Given the description of an element on the screen output the (x, y) to click on. 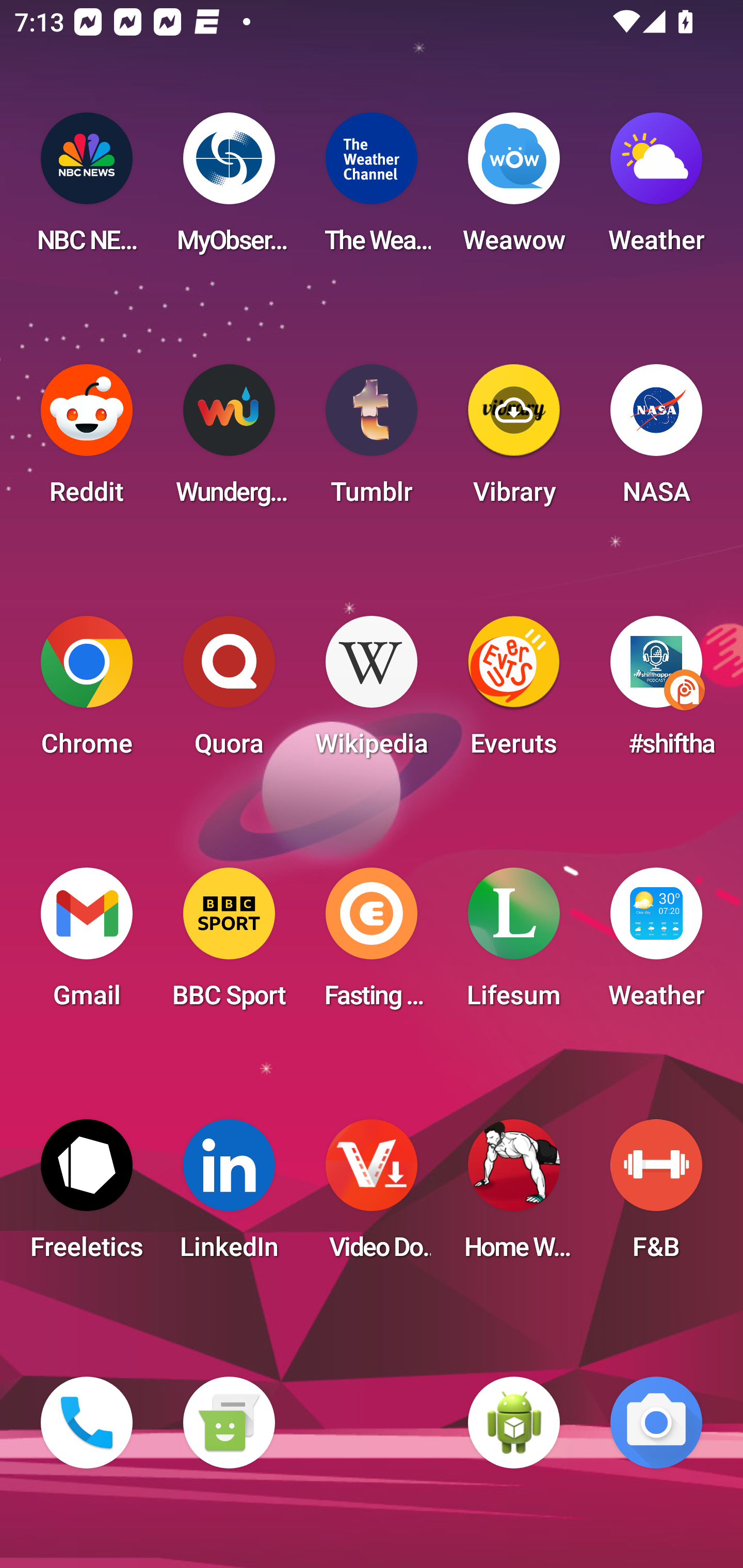
NBC NEWS (86, 188)
MyObservatory (228, 188)
The Weather Channel (371, 188)
Weawow (513, 188)
Weather (656, 188)
Reddit (86, 440)
Wunderground (228, 440)
Tumblr (371, 440)
Vibrary (513, 440)
NASA (656, 440)
Chrome (86, 692)
Quora (228, 692)
Wikipedia (371, 692)
Everuts (513, 692)
#shifthappens in the Digital Workplace Podcast (656, 692)
Gmail (86, 943)
BBC Sport (228, 943)
Fasting Coach (371, 943)
Lifesum (513, 943)
Weather (656, 943)
Freeletics (86, 1195)
LinkedIn (228, 1195)
Video Downloader & Ace Player (371, 1195)
Home Workout (513, 1195)
F&B (656, 1195)
Phone (86, 1422)
Messaging (228, 1422)
WebView Browser Tester (513, 1422)
Camera (656, 1422)
